Given the description of an element on the screen output the (x, y) to click on. 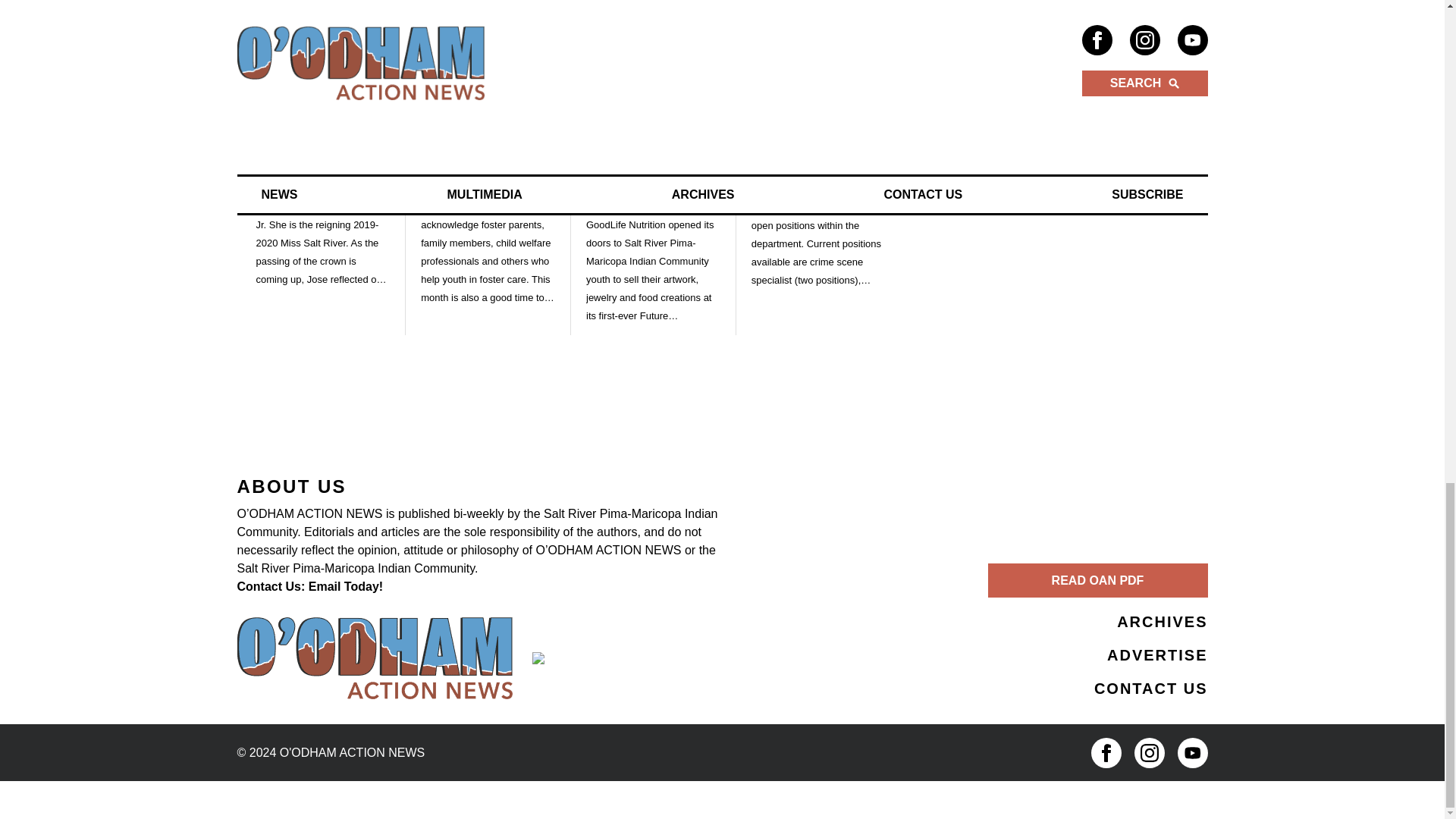
An Inside Look at the Career of an SRPD Police Officer (818, 48)
Miss Salt River Manderee Jose Farewell Address (323, 48)
ARCHIVES (1161, 621)
READ OAN PDF (1097, 580)
Contact Us: Email Today! (308, 585)
